Given the description of an element on the screen output the (x, y) to click on. 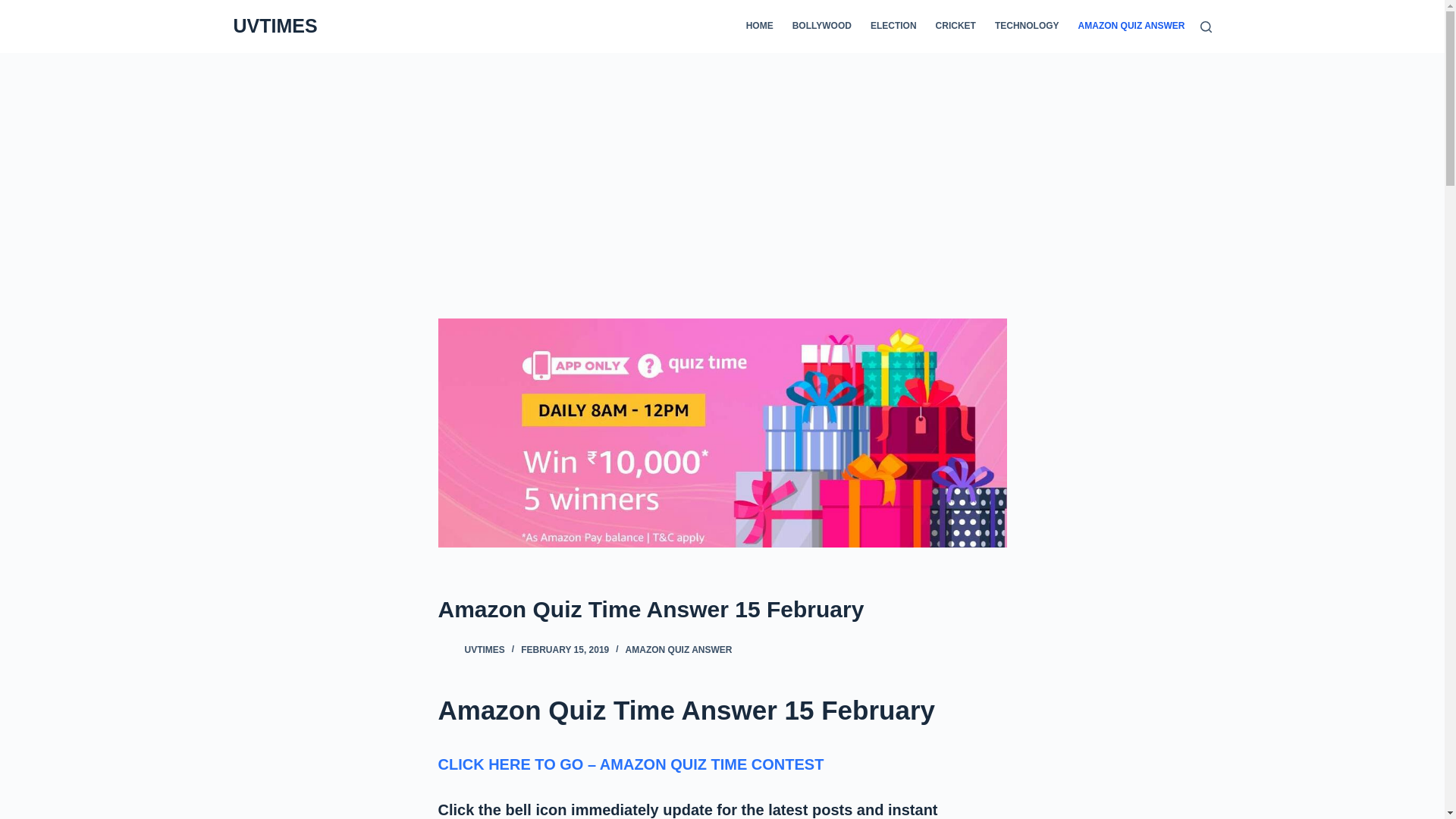
AMAZON QUIZ ANSWER (679, 649)
Amazon Quiz Time Answer 15 February (722, 609)
CRICKET (955, 26)
UVTIMES (483, 649)
UVTIMES (274, 25)
ELECTION (893, 26)
AMAZON QUIZ ANSWER (1126, 26)
TECHNOLOGY (1026, 26)
BOLLYWOOD (821, 26)
